Given the description of an element on the screen output the (x, y) to click on. 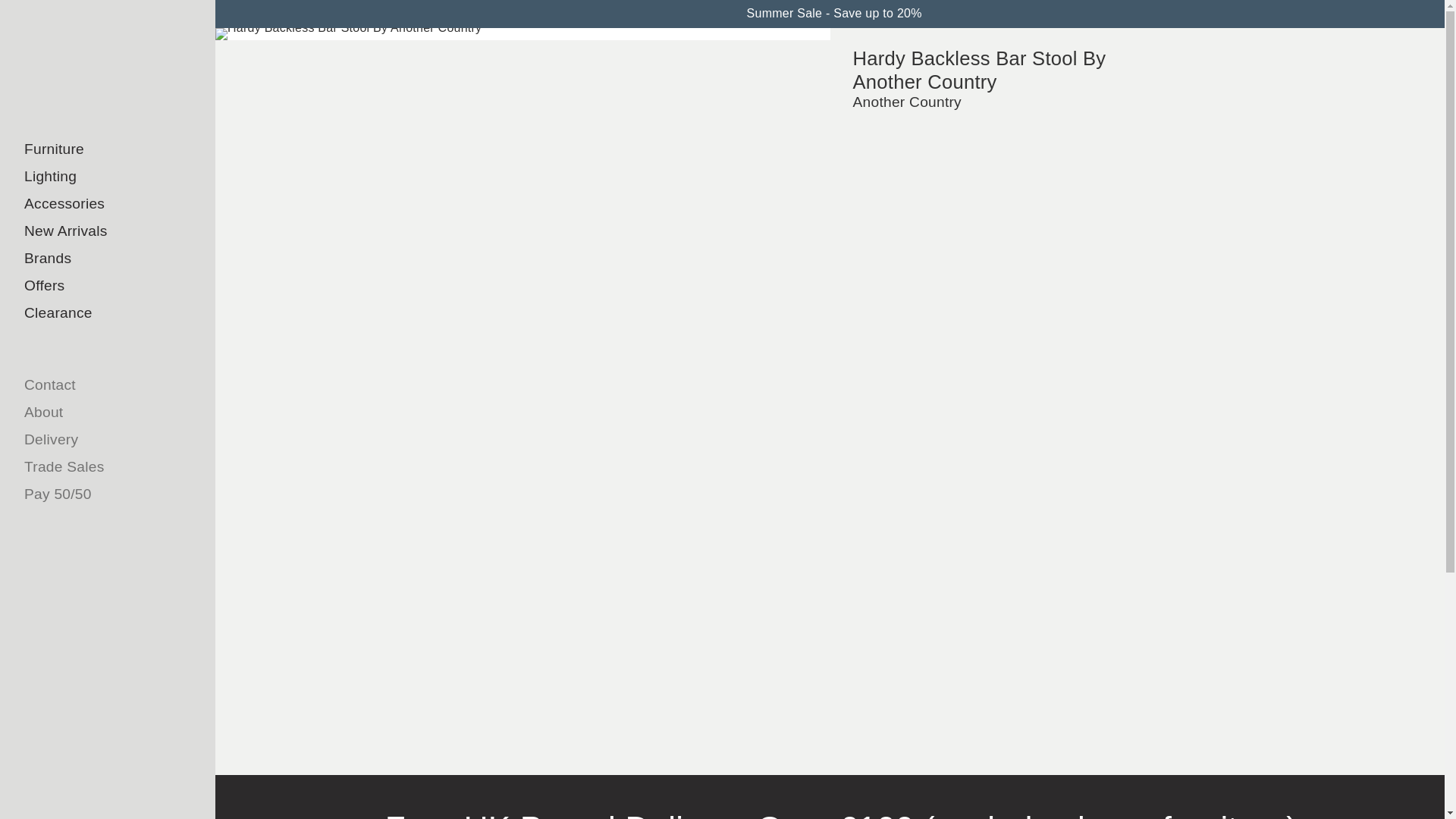
Outdoor (75, 479)
Beds (75, 397)
Currency Conversion (1387, 13)
Sofas (75, 288)
Lighting (107, 176)
Accessories (107, 203)
Dining Tables (75, 343)
String System (75, 452)
Furniture (107, 148)
Desks (75, 370)
Basket (1421, 13)
Storage (75, 424)
All Furniture (75, 179)
Designed for Kids (75, 506)
Search (107, 119)
